Given the description of an element on the screen output the (x, y) to click on. 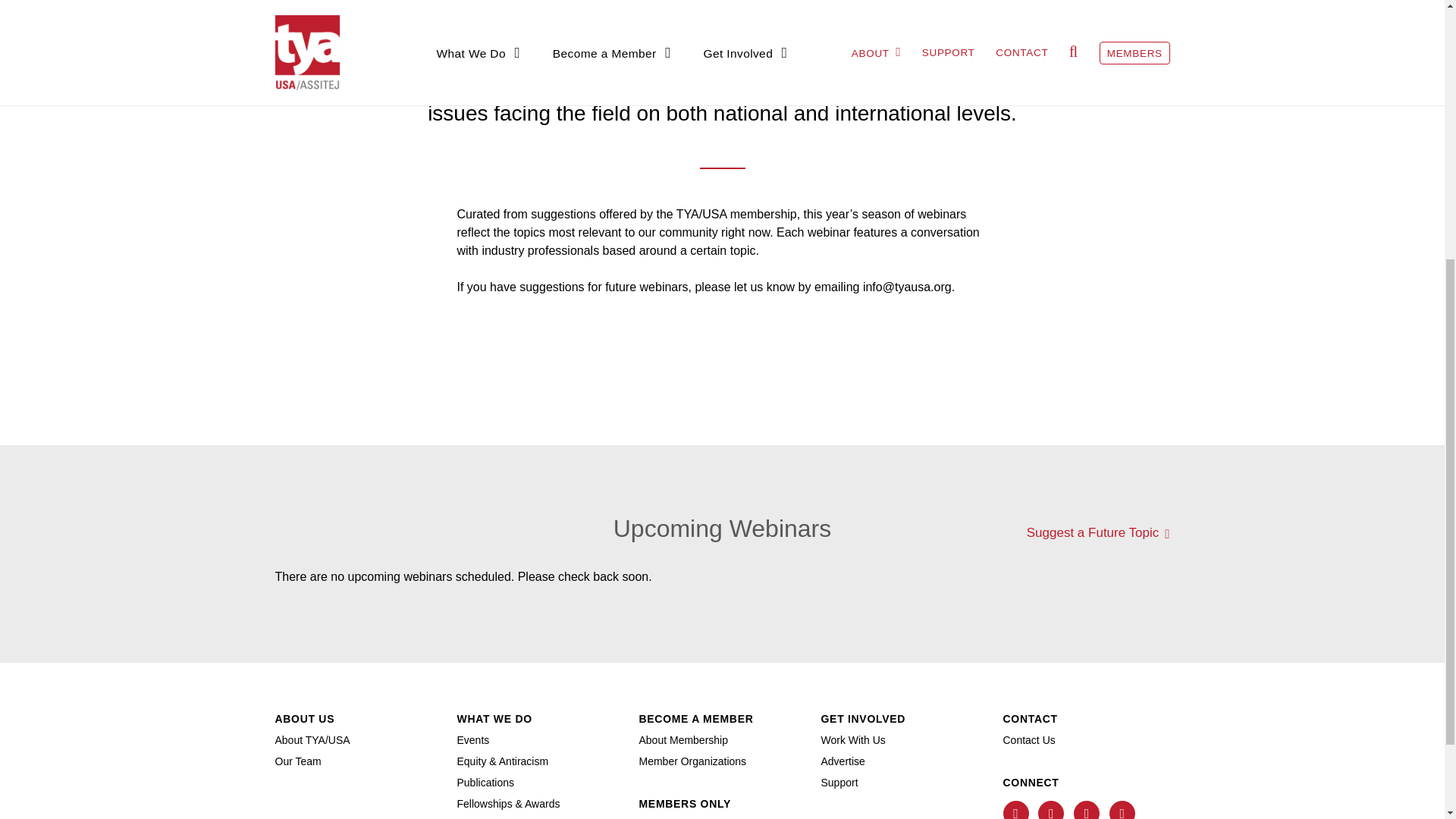
Suggest a Future Topic (1098, 532)
Member Organizations (692, 761)
Events (473, 739)
Work With Us (853, 739)
About Membership (683, 739)
Our Team (297, 761)
Advertise (842, 761)
Support (839, 782)
Publications (485, 782)
